Given the description of an element on the screen output the (x, y) to click on. 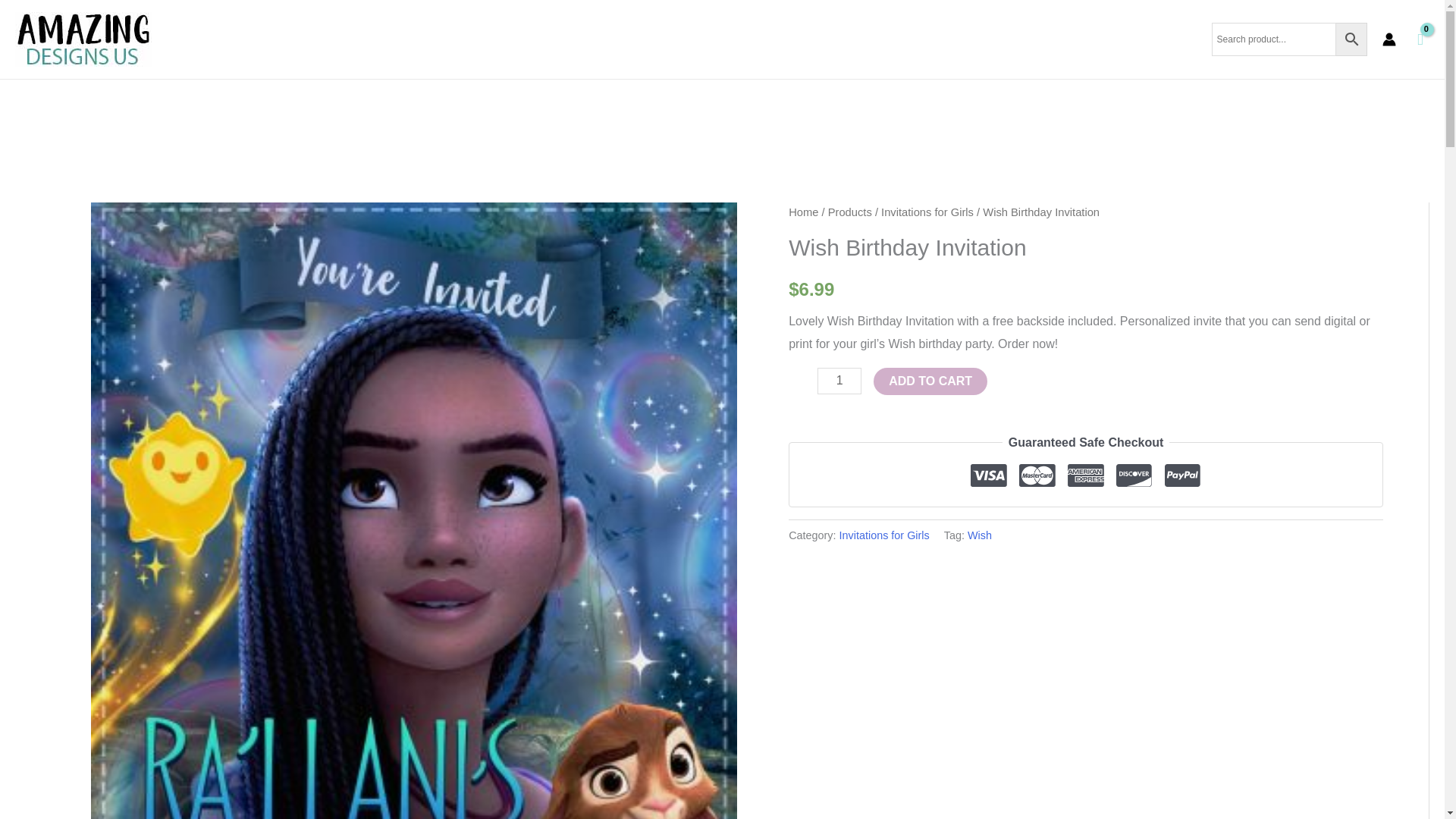
BIRTHDAY INVITATIONS (427, 102)
1 (838, 380)
SHOP (321, 102)
